Given the description of an element on the screen output the (x, y) to click on. 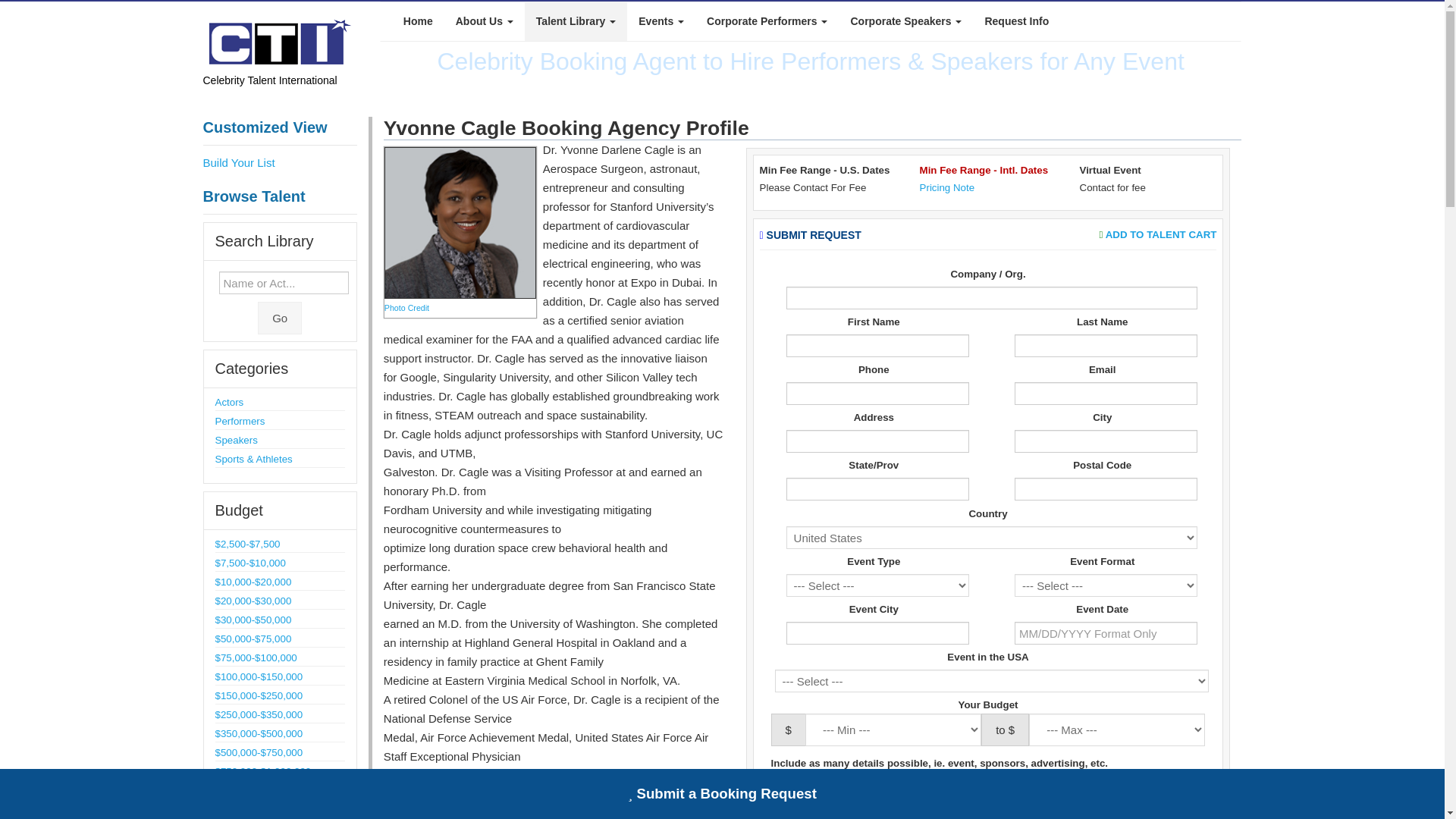
Talent Library (575, 21)
Request info on booking talent (1015, 21)
Events (661, 21)
Corporate Performers (766, 21)
About Us (484, 21)
Home (417, 21)
